Given the description of an element on the screen output the (x, y) to click on. 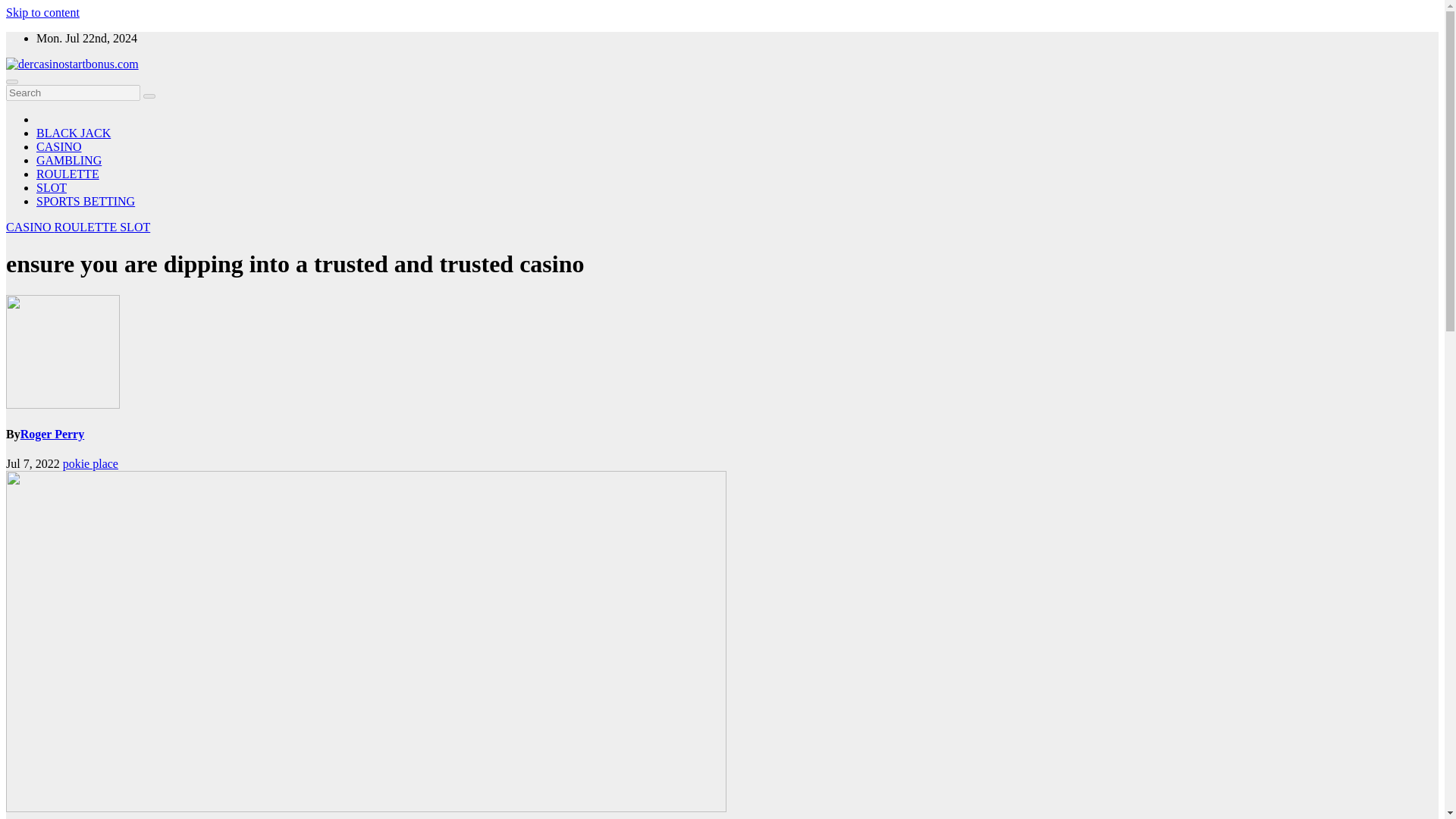
CASINO (58, 146)
SPORTS BETTING (85, 201)
SLOT (51, 187)
ROULETTE (67, 173)
ROULETTE (87, 226)
CASINO (58, 146)
SLOT (134, 226)
Roger Perry (52, 433)
CASINO (30, 226)
BLACK JACK (73, 132)
GAMBLING (68, 160)
SLOT (51, 187)
Skip to content (42, 11)
GAMBLING (68, 160)
